Given the description of an element on the screen output the (x, y) to click on. 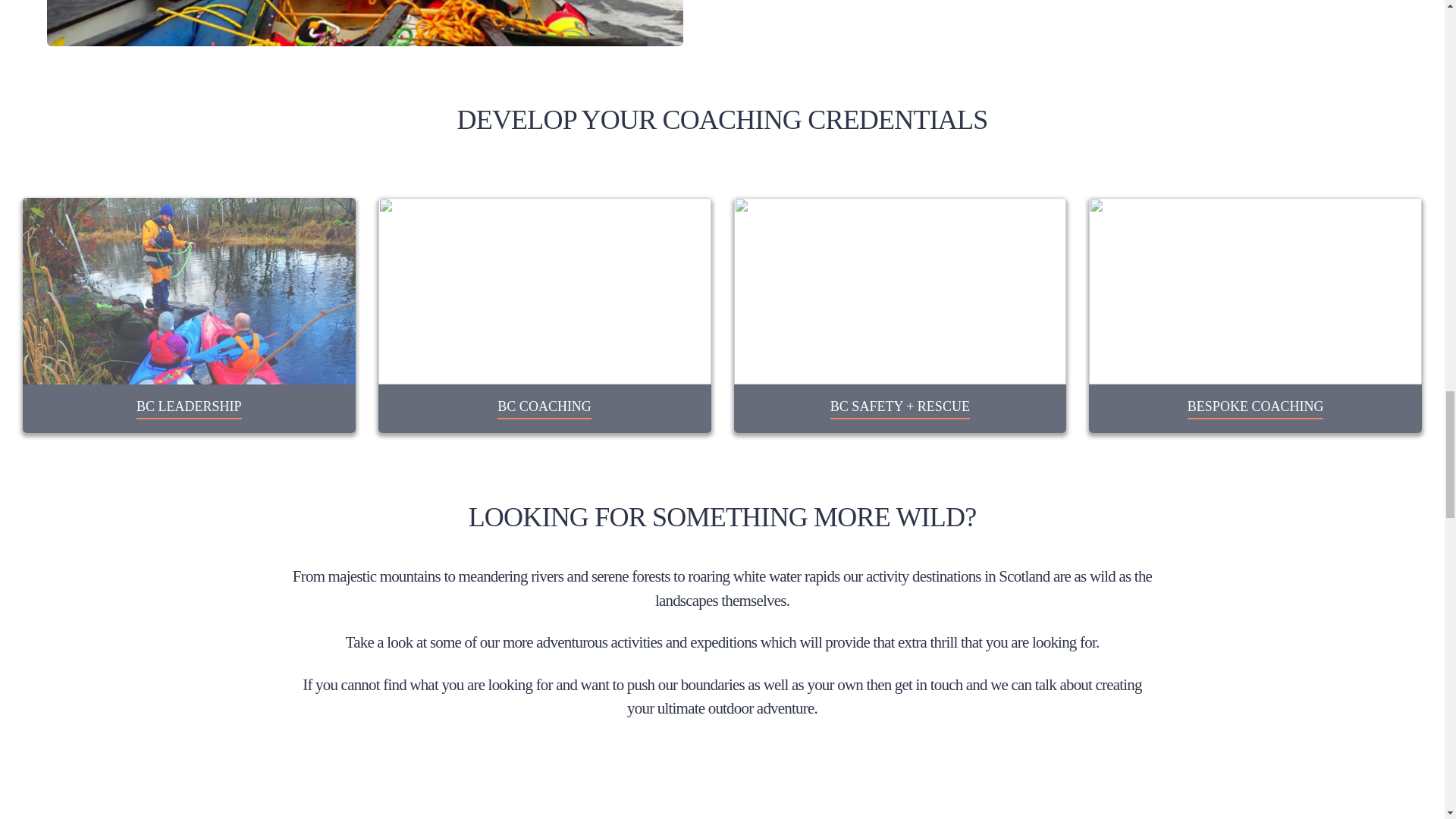
Leadership (189, 291)
Coaching (544, 291)
Leadership (188, 409)
Coaching (544, 409)
